Given the description of an element on the screen output the (x, y) to click on. 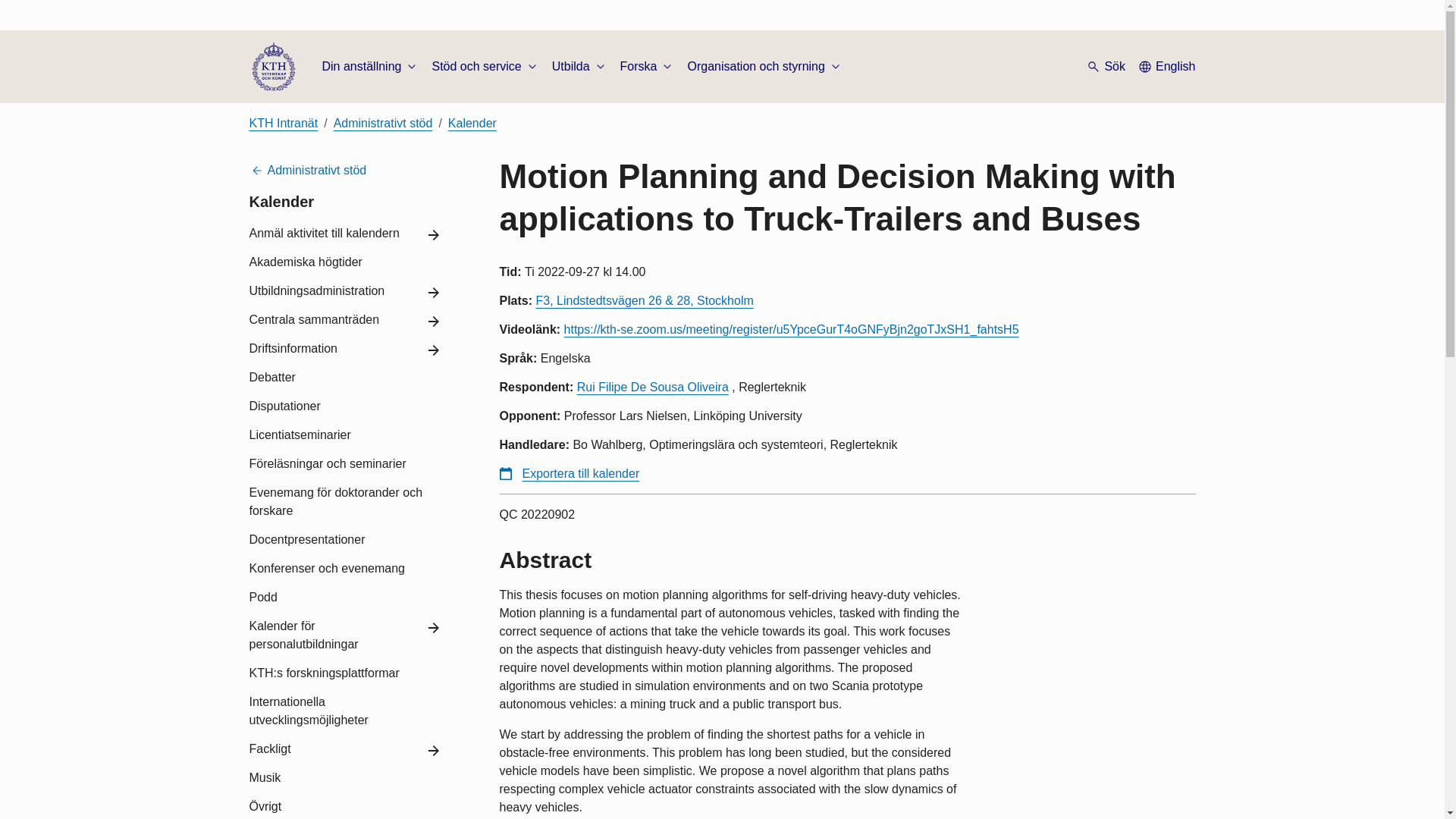
Show translation (1166, 66)
Organisation och styrning (765, 66)
Forska (647, 66)
Utbilda (579, 66)
